Given the description of an element on the screen output the (x, y) to click on. 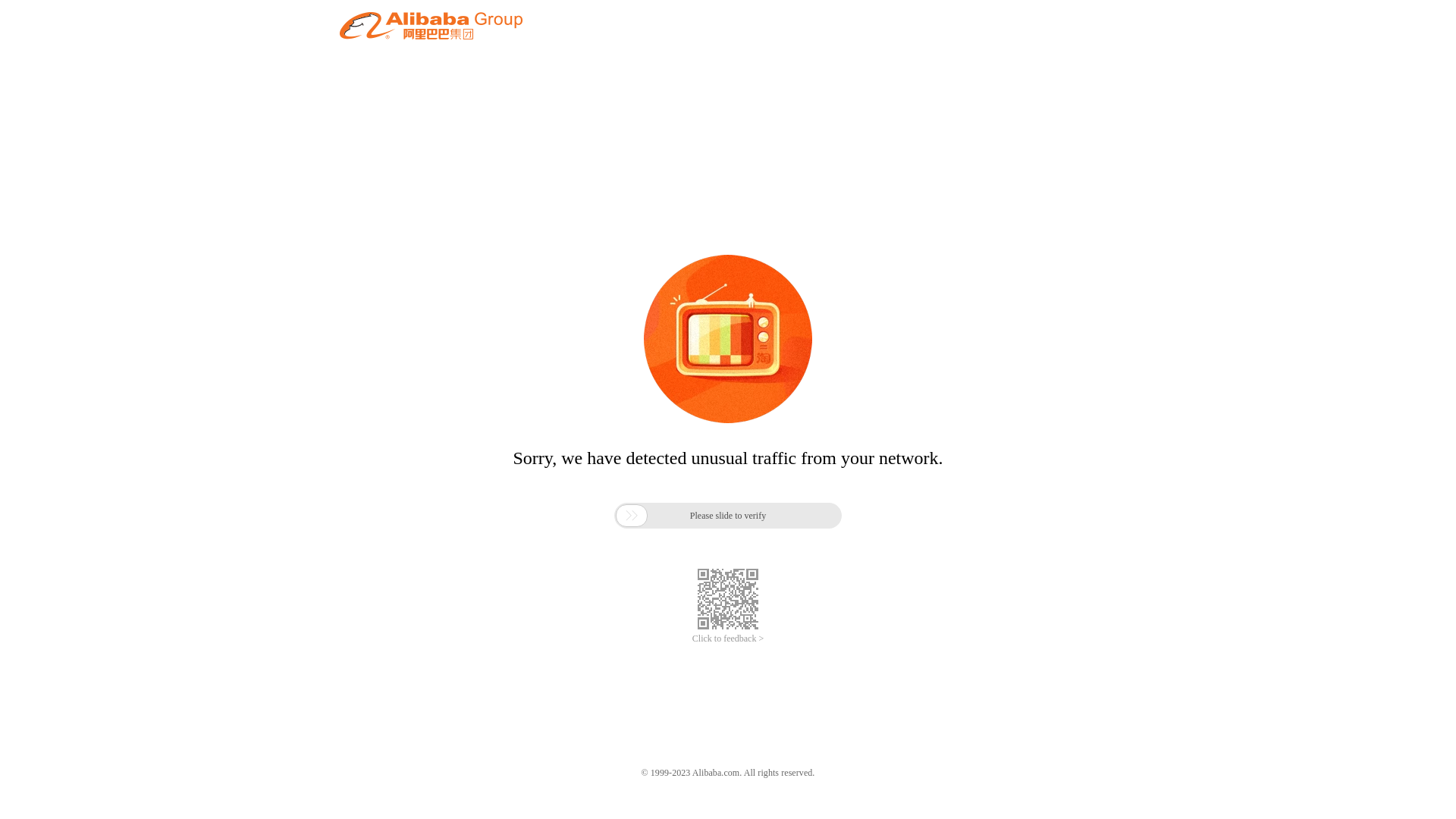
Click to feedback > Element type: text (727, 638)
